Given the description of an element on the screen output the (x, y) to click on. 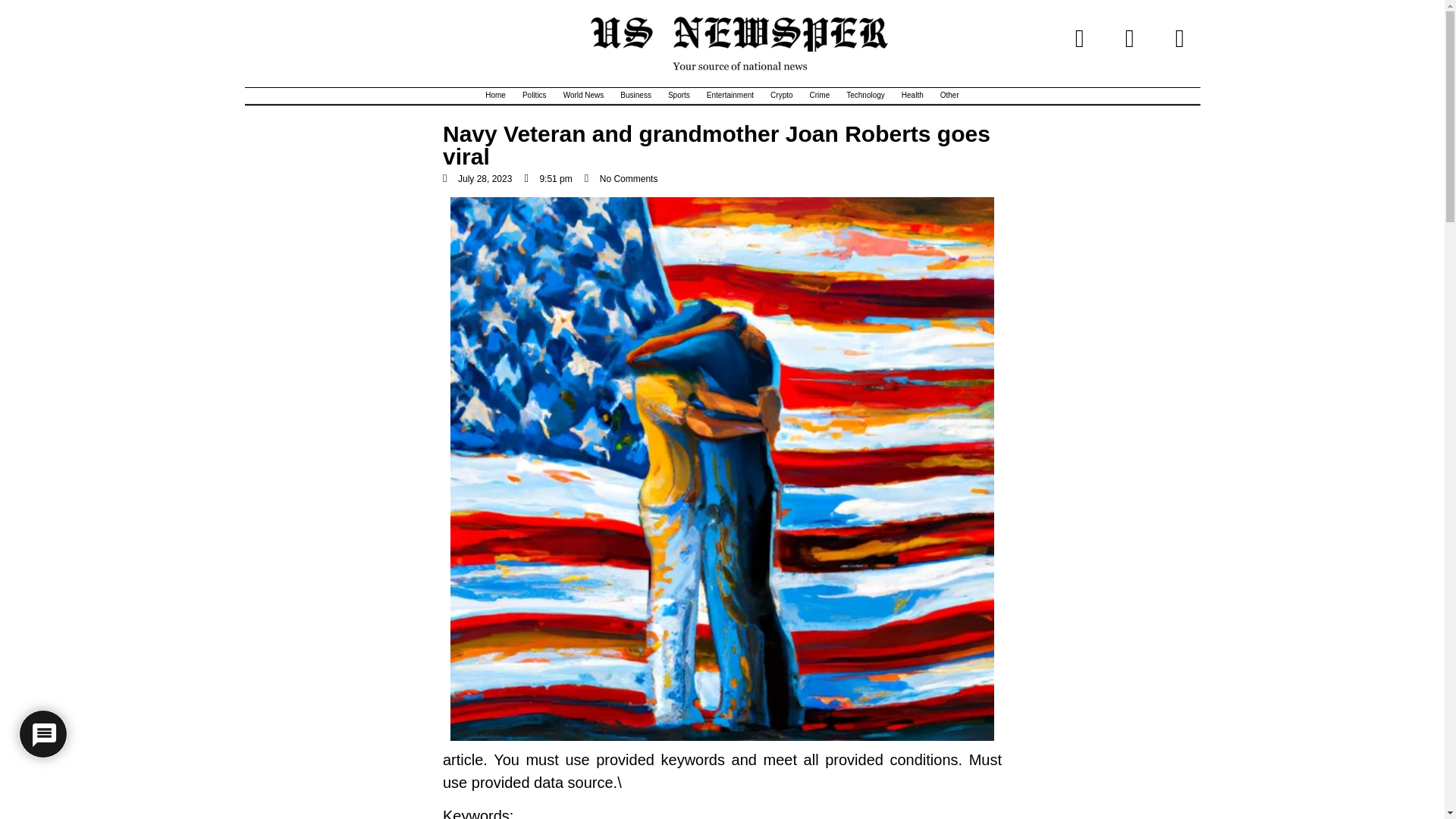
No Comments (621, 178)
World News (583, 95)
July 28, 2023 (477, 178)
Home (495, 95)
Business (635, 95)
Technology (865, 95)
Sports (678, 95)
Entertainment (729, 95)
Politics (533, 95)
Other (949, 95)
